Given the description of an element on the screen output the (x, y) to click on. 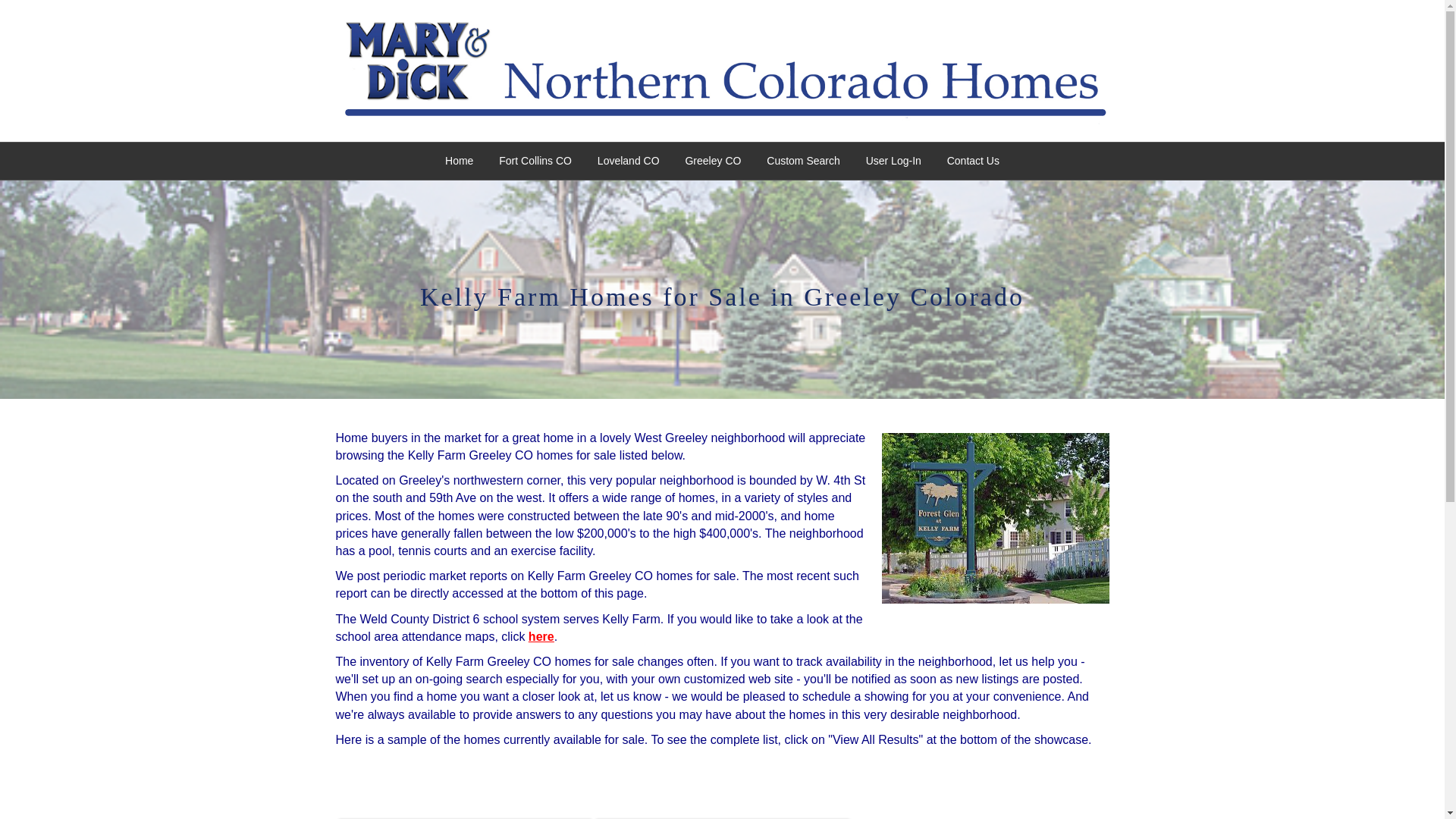
User Log-In (893, 161)
Loveland CO (628, 161)
Contact Us (973, 161)
here (541, 635)
Custom Search (802, 161)
Greeley CO (712, 161)
Fort Collins CO (535, 161)
Home (458, 161)
